Given the description of an element on the screen output the (x, y) to click on. 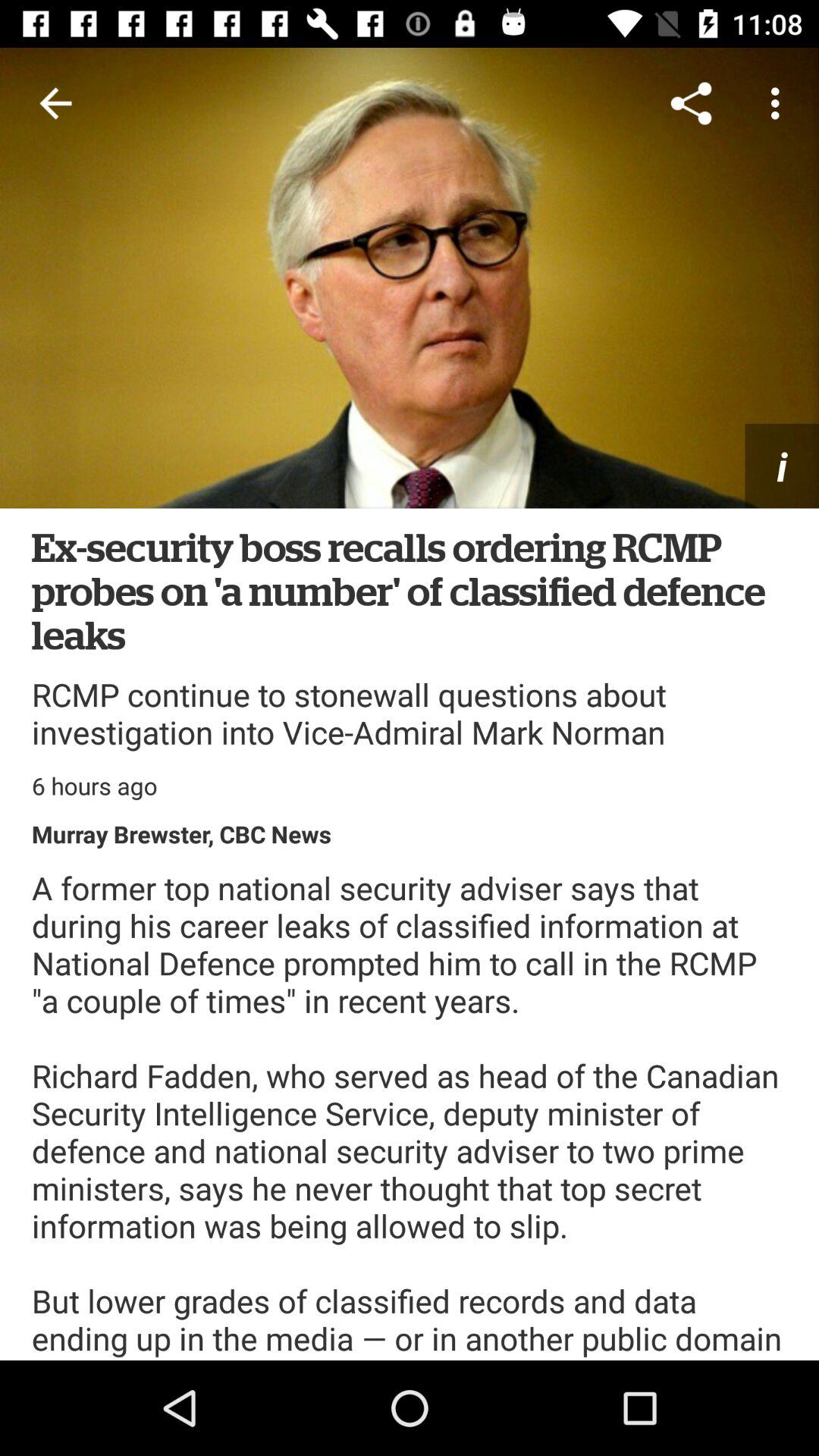
turn off icon below rcmp continue to icon (94, 785)
